Given the description of an element on the screen output the (x, y) to click on. 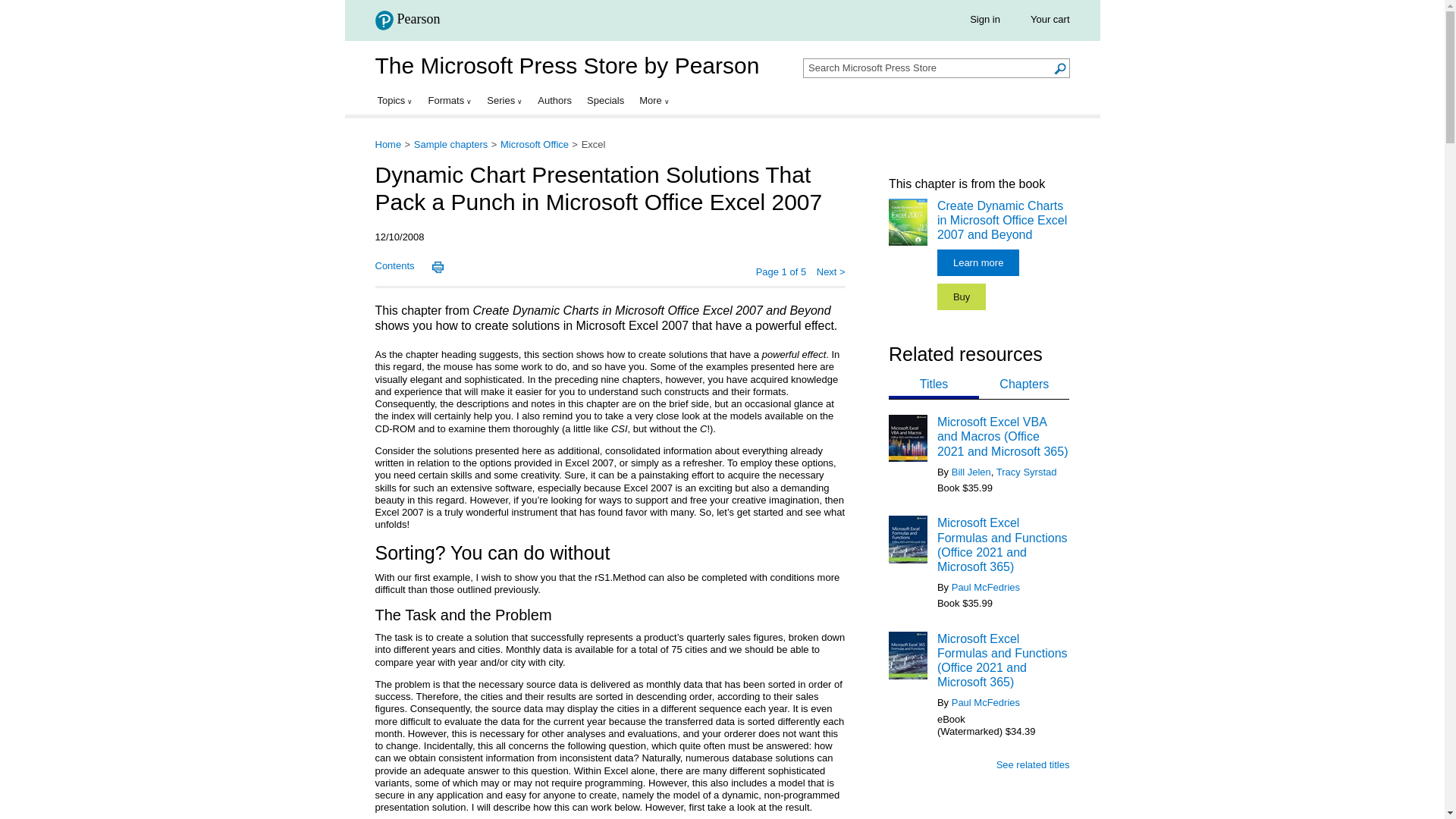
Specials (605, 100)
Pearson (411, 22)
Sign in (984, 19)
Your cart (1050, 19)
Authors (554, 100)
Search (1060, 68)
Print (437, 267)
The Microsoft Press Store by Pearson (566, 65)
Pearson (406, 20)
